Given the description of an element on the screen output the (x, y) to click on. 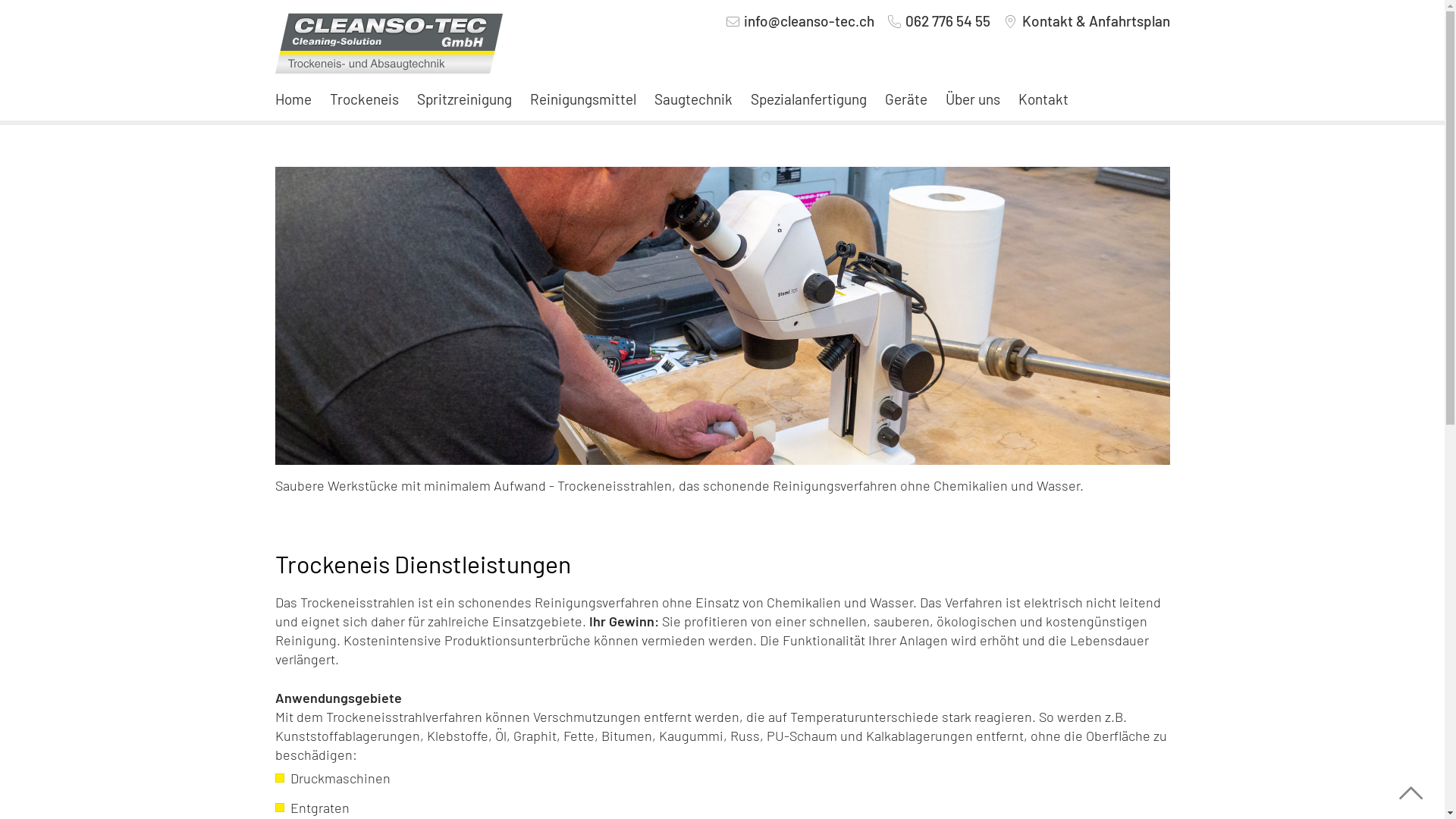
Spezialanfertigung Element type: text (808, 98)
Kontakt & Anfahrtsplan Element type: text (1096, 20)
Home Element type: text (297, 98)
Reinigungsmittel Element type: text (582, 98)
Trockeneis Element type: text (363, 98)
Spritzreinigung Element type: text (463, 98)
info@cleanso-tec.ch Element type: text (808, 20)
Saugtechnik Element type: text (692, 98)
Kontakt Element type: text (1042, 98)
062 776 54 55 Element type: text (947, 20)
